Given the description of an element on the screen output the (x, y) to click on. 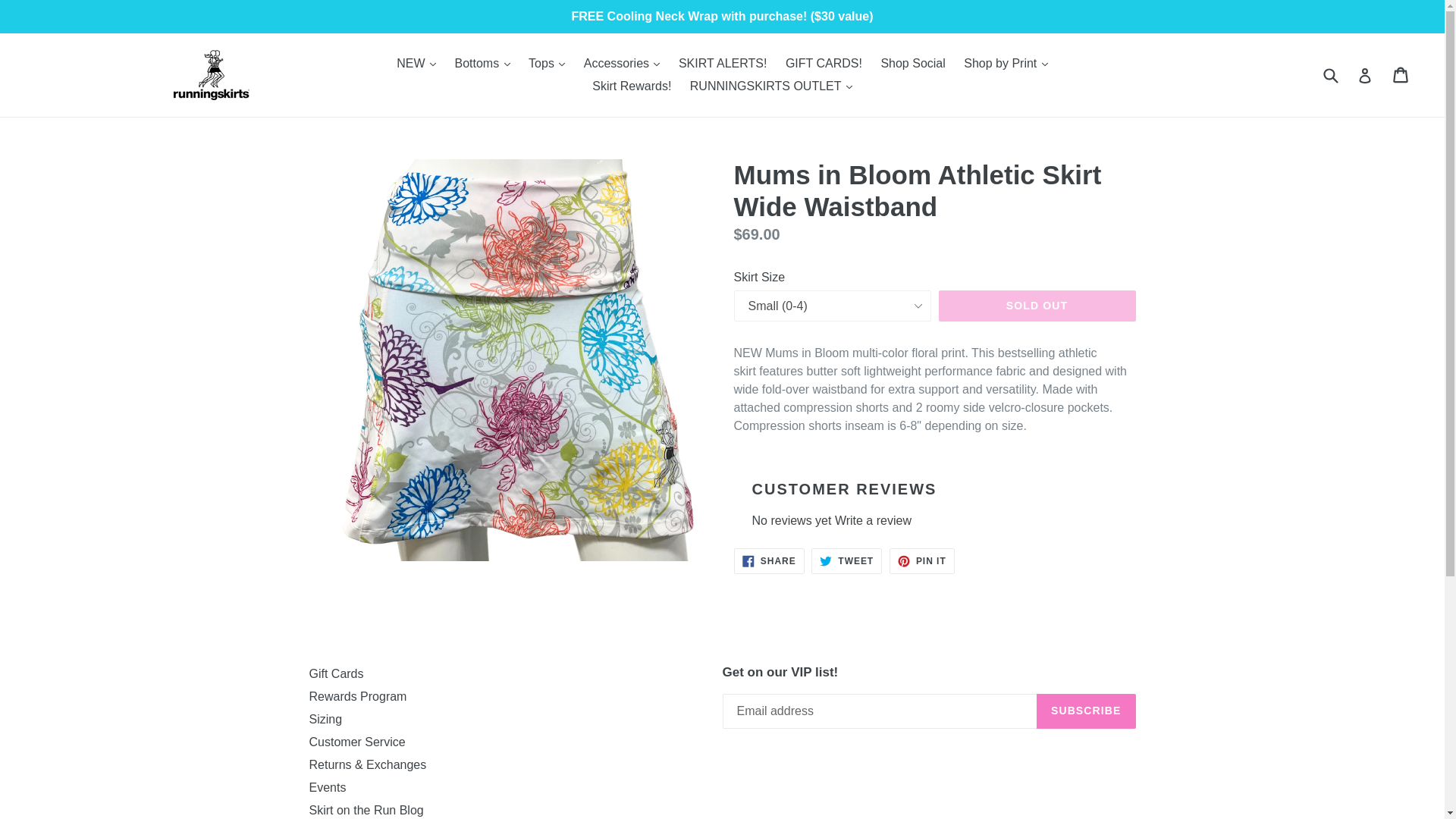
Tweet on Twitter (846, 560)
Pin on Pinterest (922, 560)
Share on Facebook (769, 560)
